Given the description of an element on the screen output the (x, y) to click on. 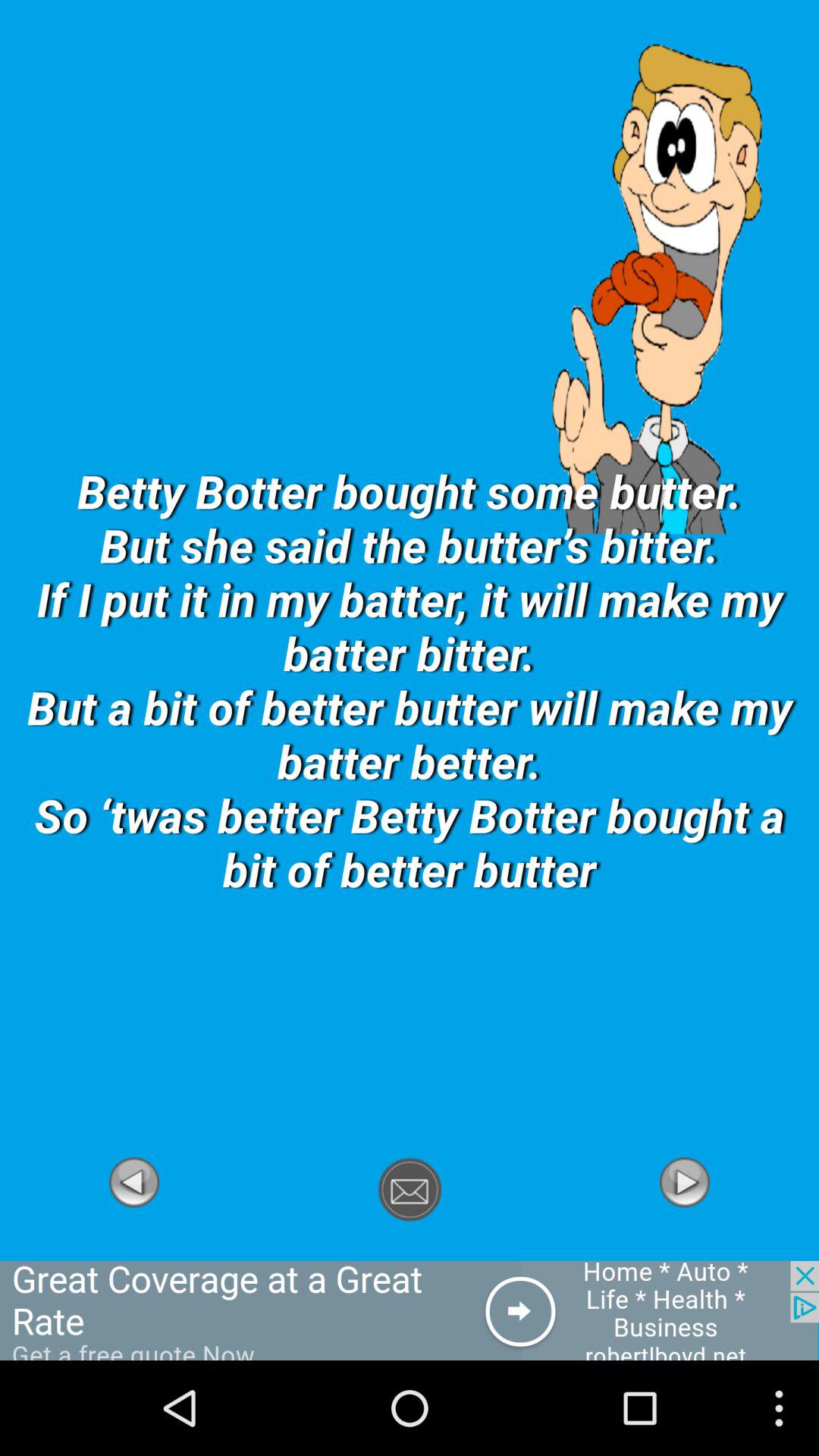
forwort (409, 1310)
